Given the description of an element on the screen output the (x, y) to click on. 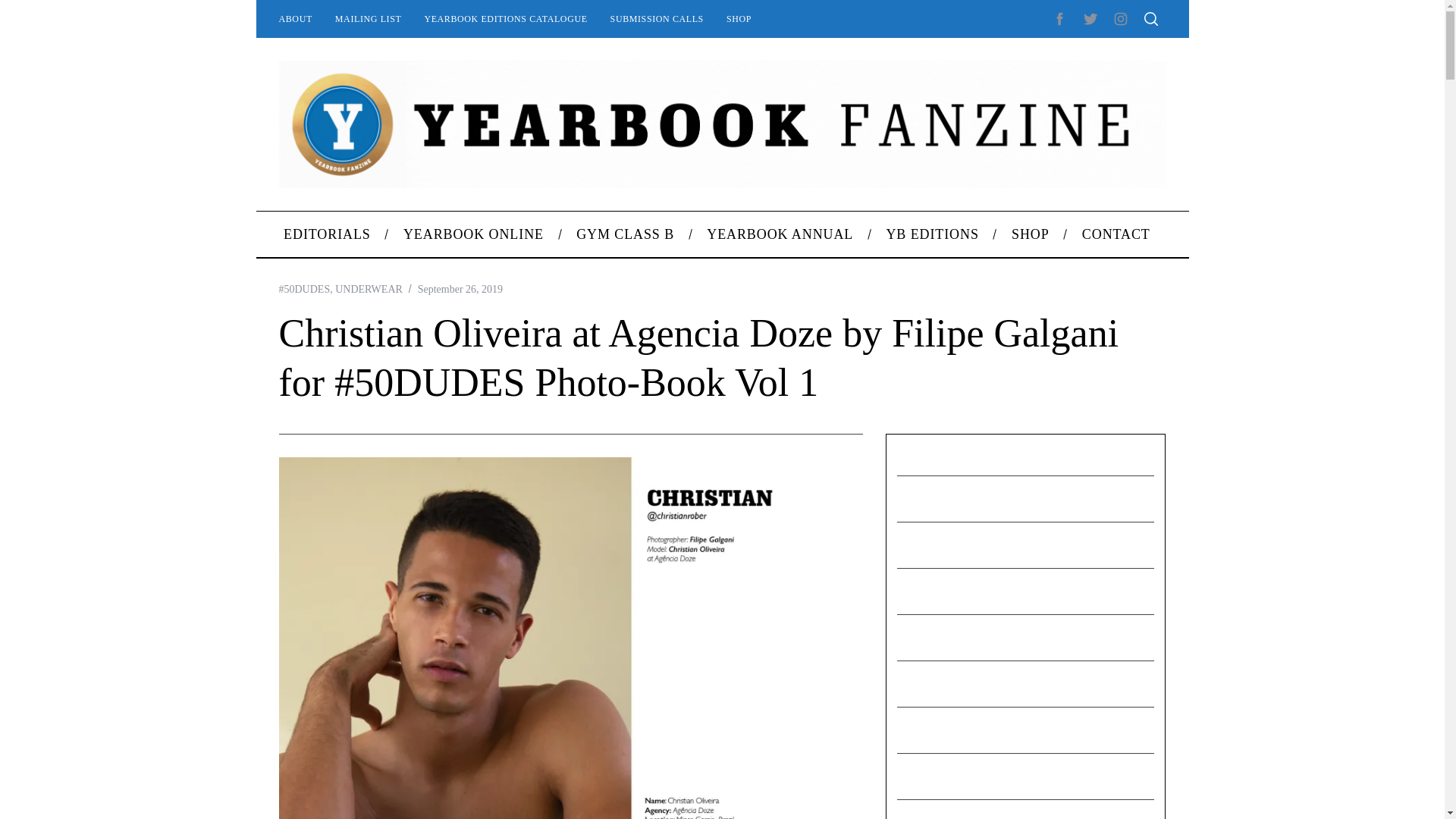
ABOUT (294, 18)
MAILING LIST (368, 18)
EDITORIALS (326, 234)
YEARBOOK ANNUAL (779, 234)
SUBMISSION CALLS (656, 18)
SHOP (738, 18)
YEARBOOK EDITIONS CATALOGUE (505, 18)
UNDERWEAR (368, 288)
GYM CLASS B (625, 234)
YEARBOOK ONLINE (473, 234)
